Given the description of an element on the screen output the (x, y) to click on. 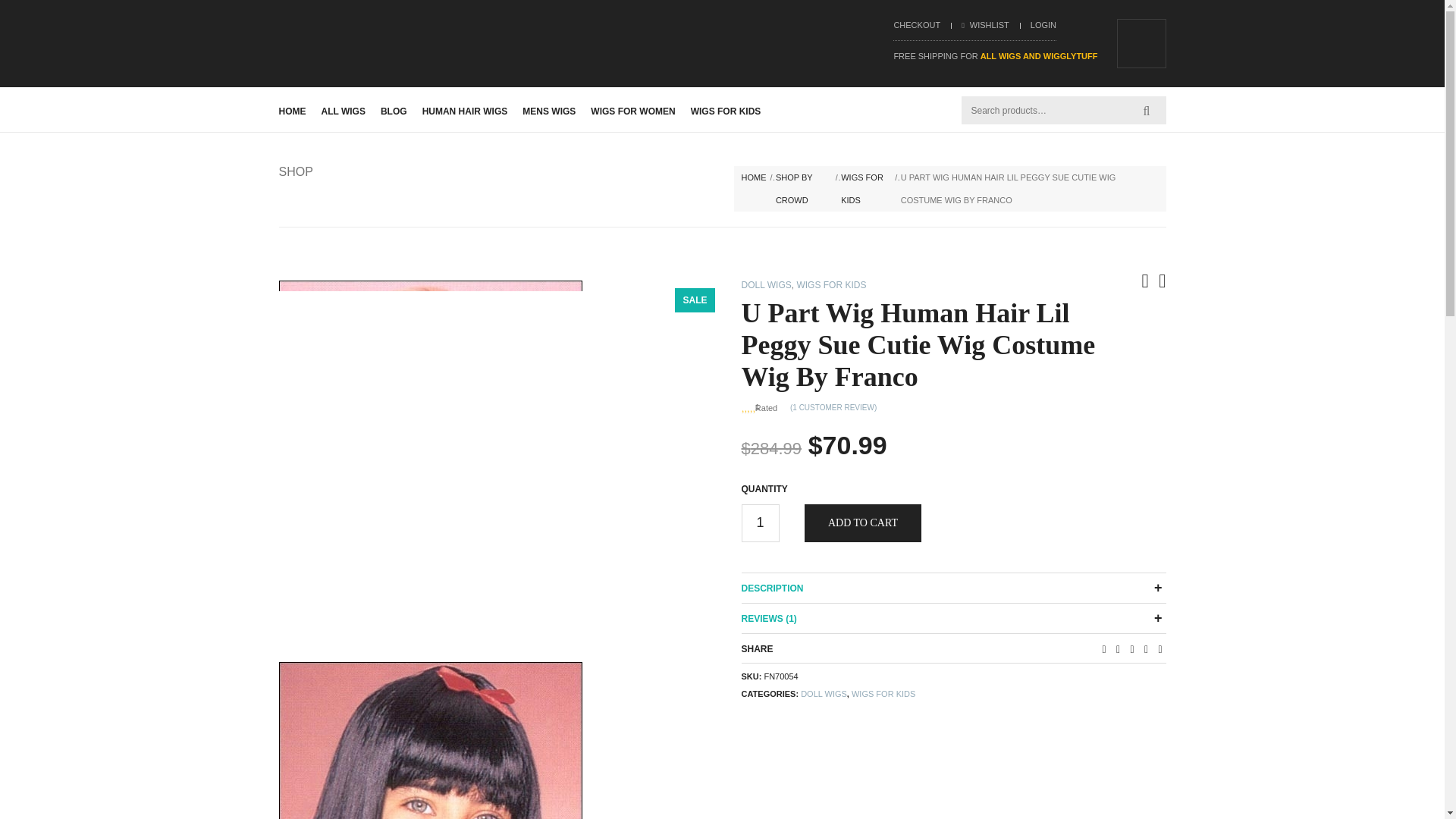
Qty (759, 523)
1 (759, 523)
Wishlist (984, 24)
